Given the description of an element on the screen output the (x, y) to click on. 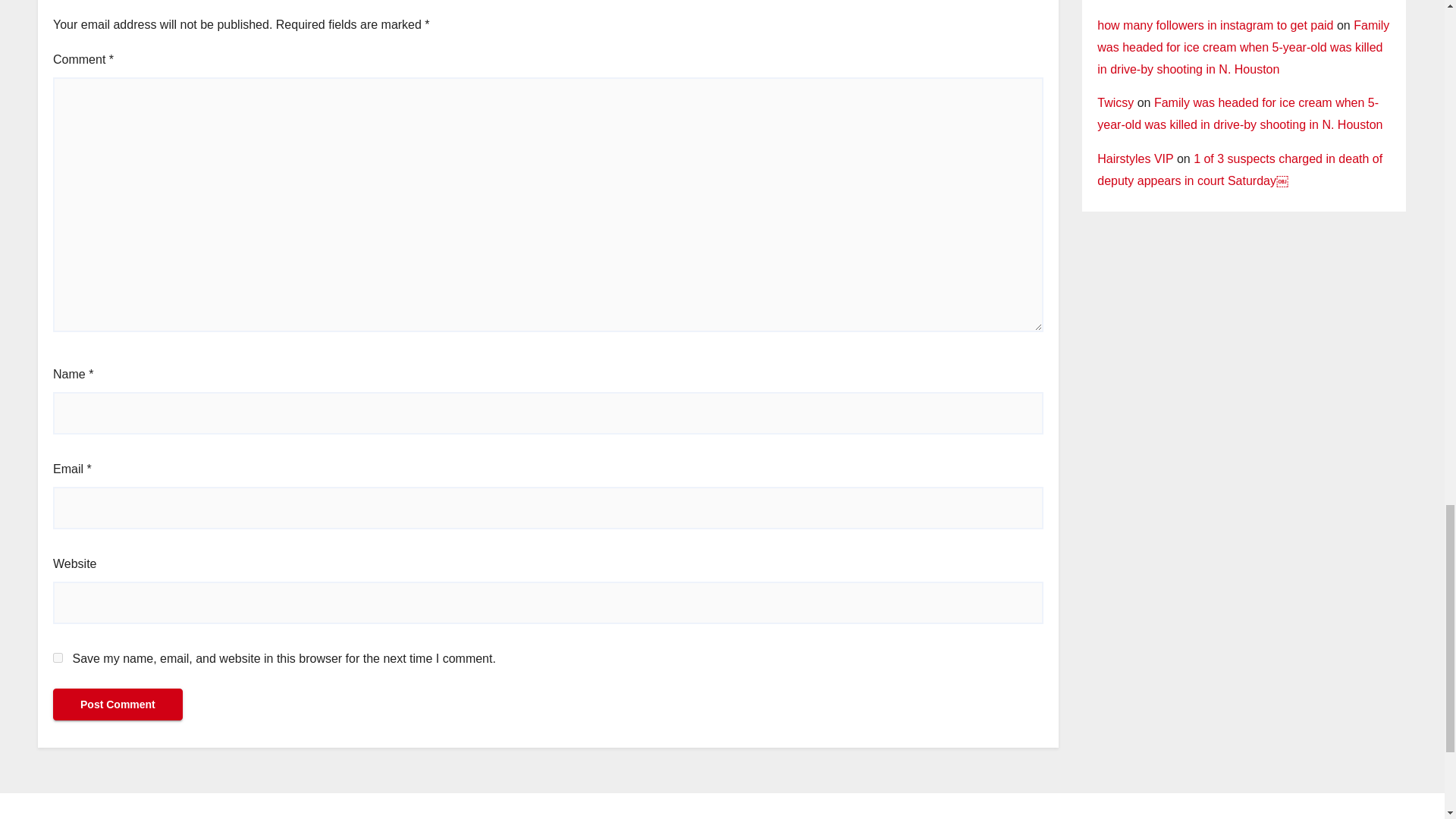
Post Comment (117, 704)
Post Comment (117, 704)
yes (57, 657)
